Given the description of an element on the screen output the (x, y) to click on. 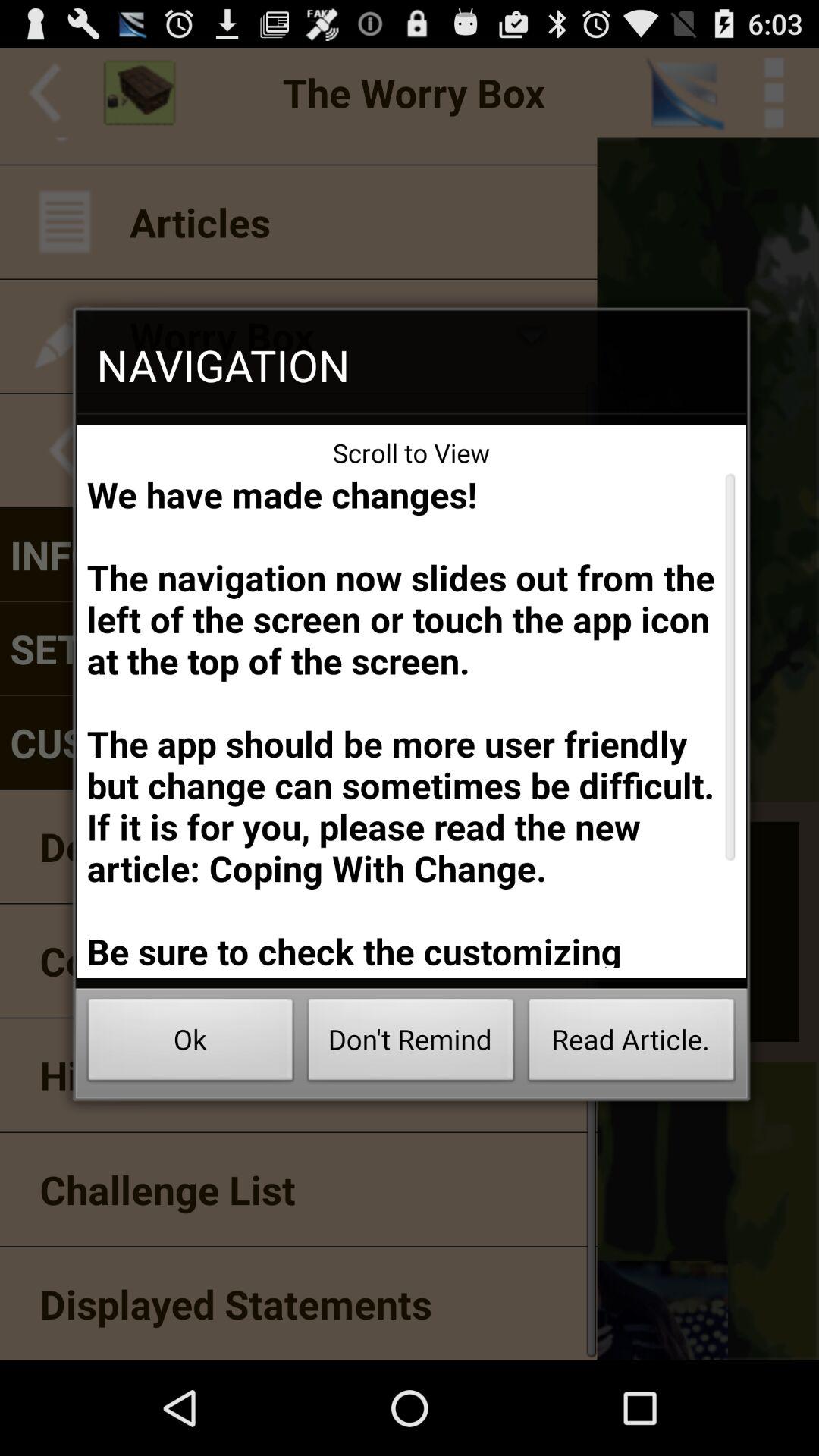
flip until the read article. button (631, 1044)
